Given the description of an element on the screen output the (x, y) to click on. 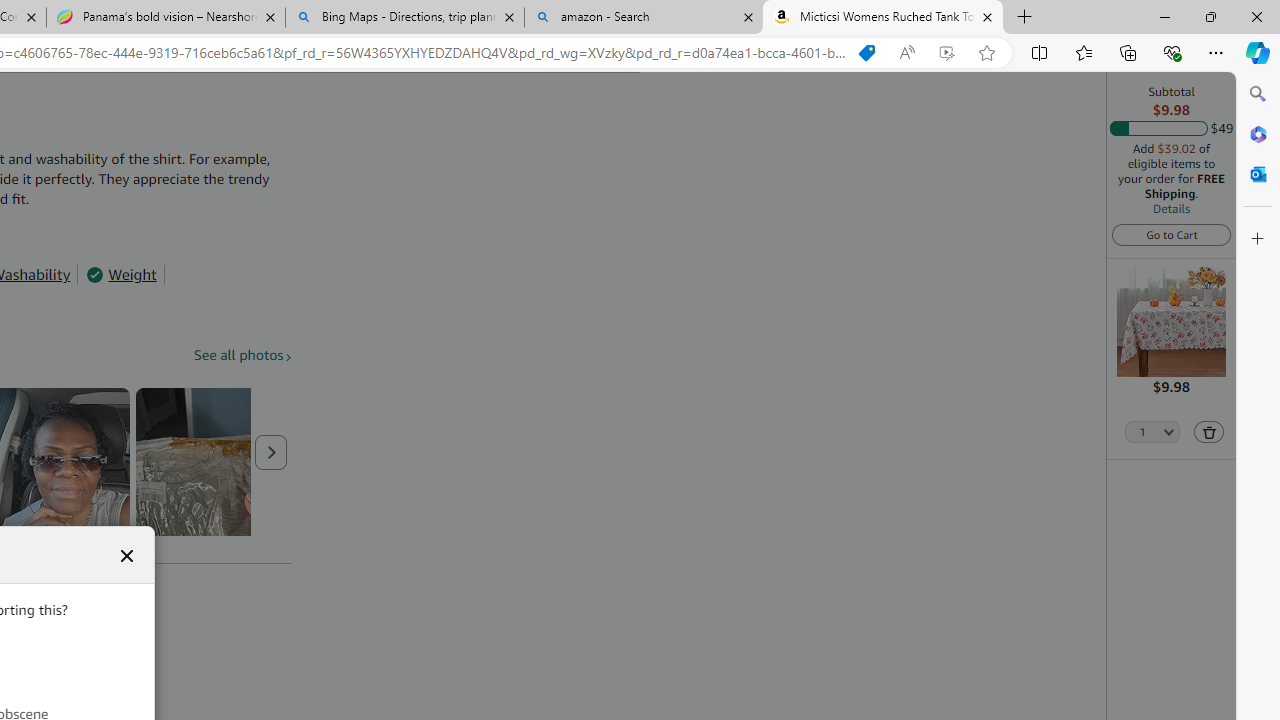
Next page (271, 452)
amazon - Search (643, 17)
See all photos (243, 355)
